Given the description of an element on the screen output the (x, y) to click on. 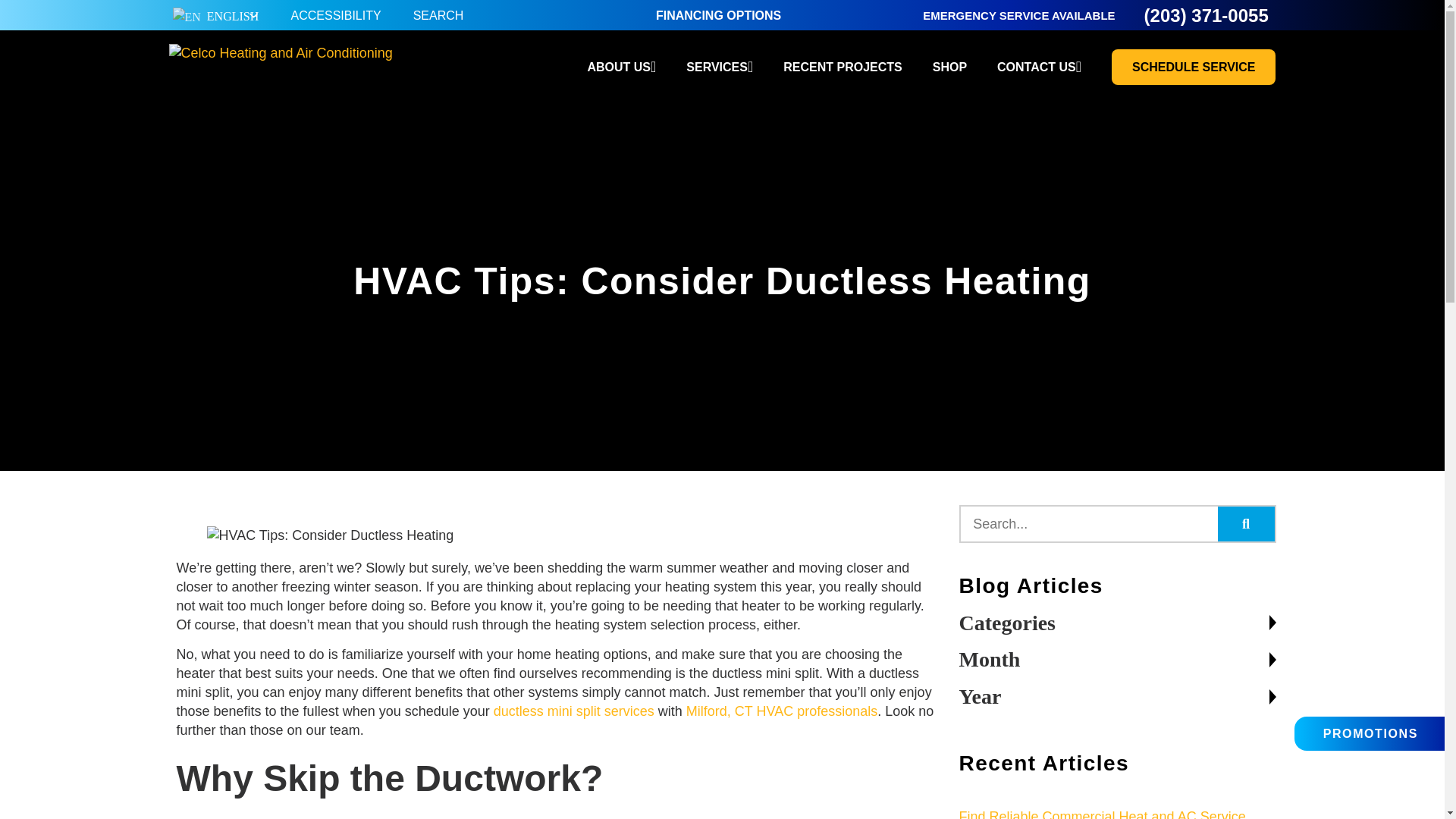
ABOUT US (621, 67)
FINANCING OPTIONS (718, 15)
SERVICES (718, 67)
Search (1088, 523)
ENGLISH (215, 16)
Search (1246, 523)
